Given the description of an element on the screen output the (x, y) to click on. 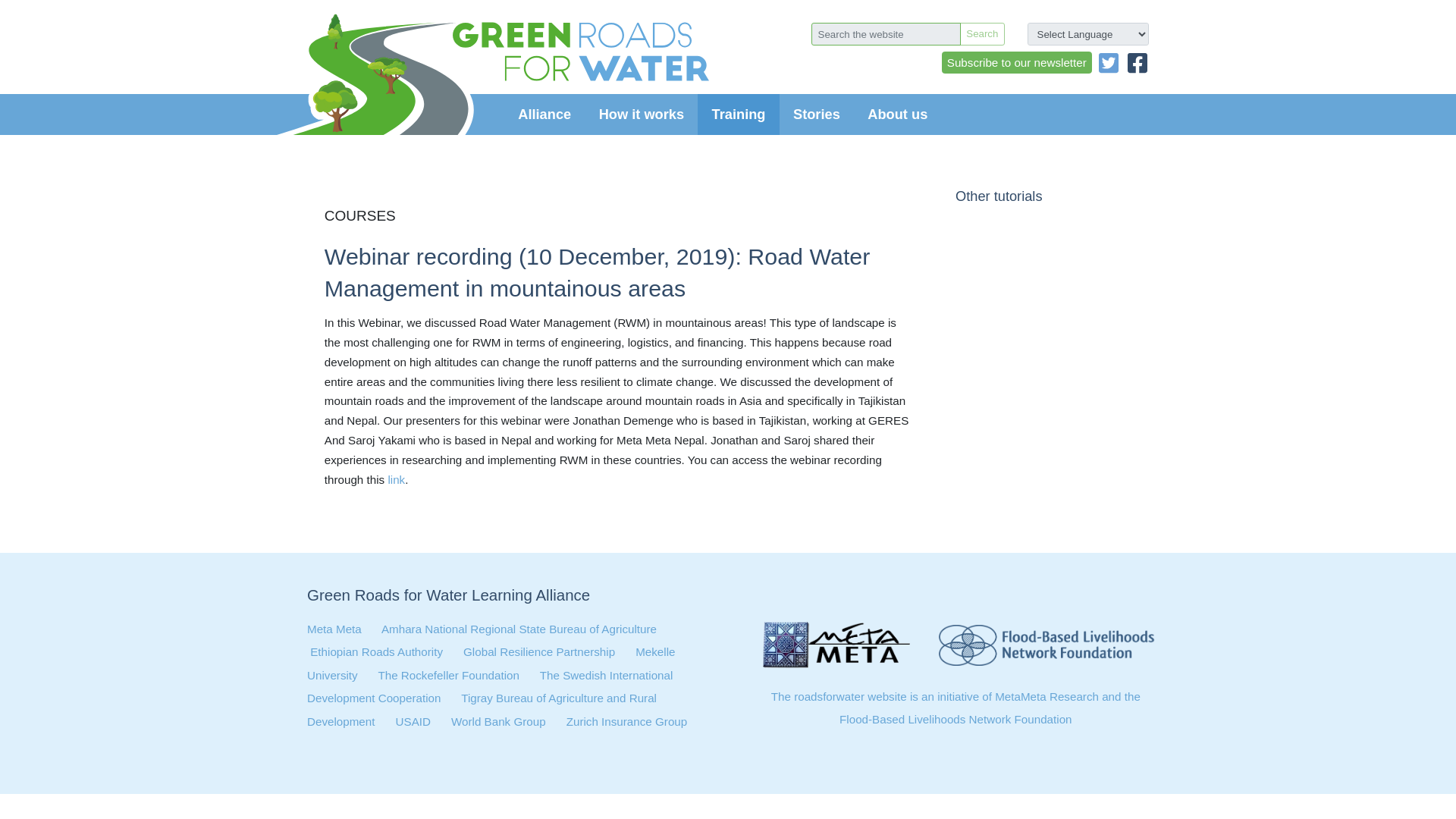
Stories (815, 114)
The Swedish International Development Cooperation (489, 686)
Tigray Bureau of Agriculture and Rural Development (481, 709)
Meta Meta (334, 628)
Subscribe to our newsletter (1017, 62)
link (395, 479)
Search (981, 33)
Global Resilience Partnership (538, 651)
USAID (413, 720)
How it works (641, 114)
Mekelle University (491, 662)
Alliance (544, 114)
Ethiopian Roads Authority (376, 651)
Training (737, 114)
The Rockefeller Foundation (448, 675)
